Given the description of an element on the screen output the (x, y) to click on. 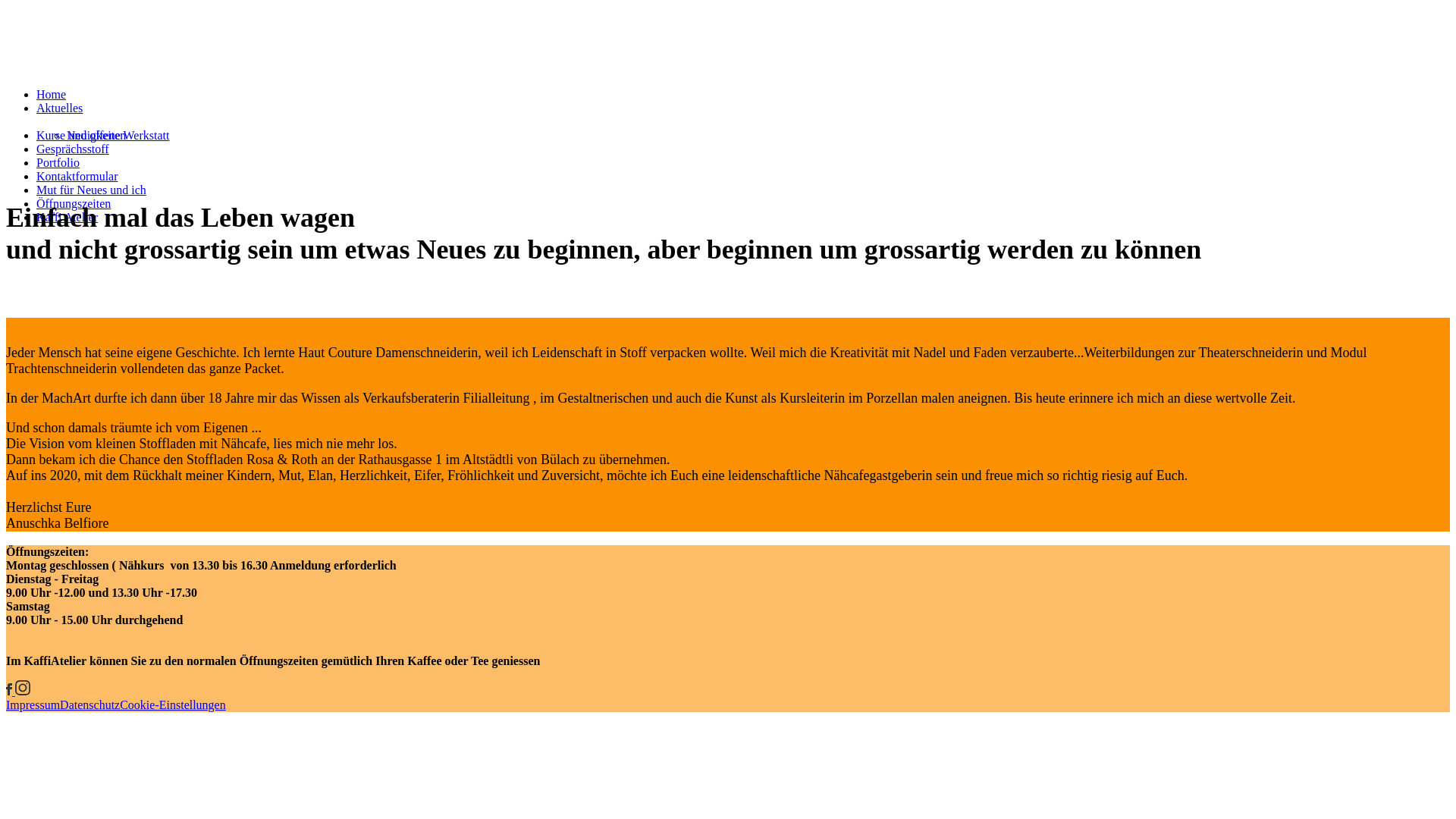
Cookie-Einstellungen Element type: text (172, 704)
Aktuelles Element type: text (59, 107)
Kurse und offene Werkstatt Element type: text (102, 134)
Portfolio Element type: text (57, 162)
Impressum Element type: text (32, 704)
Datenschutz Element type: text (89, 704)
Kontaktformular Element type: text (77, 175)
Neuigkeiten Element type: text (95, 134)
Kaffi Atelier Element type: text (66, 216)
Home Element type: text (50, 93)
